Given the description of an element on the screen output the (x, y) to click on. 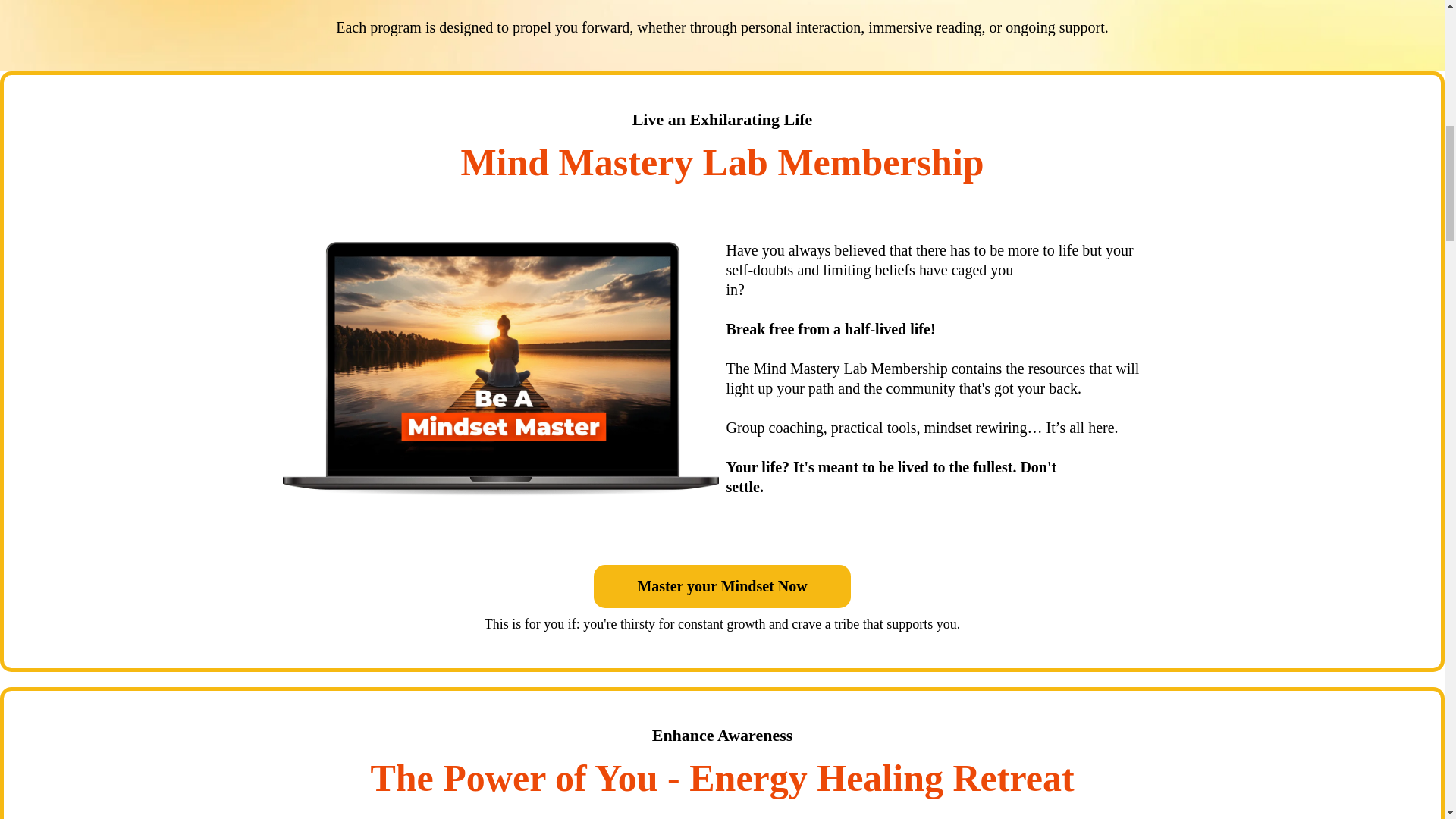
Master your Mindset Now (722, 586)
